Given the description of an element on the screen output the (x, y) to click on. 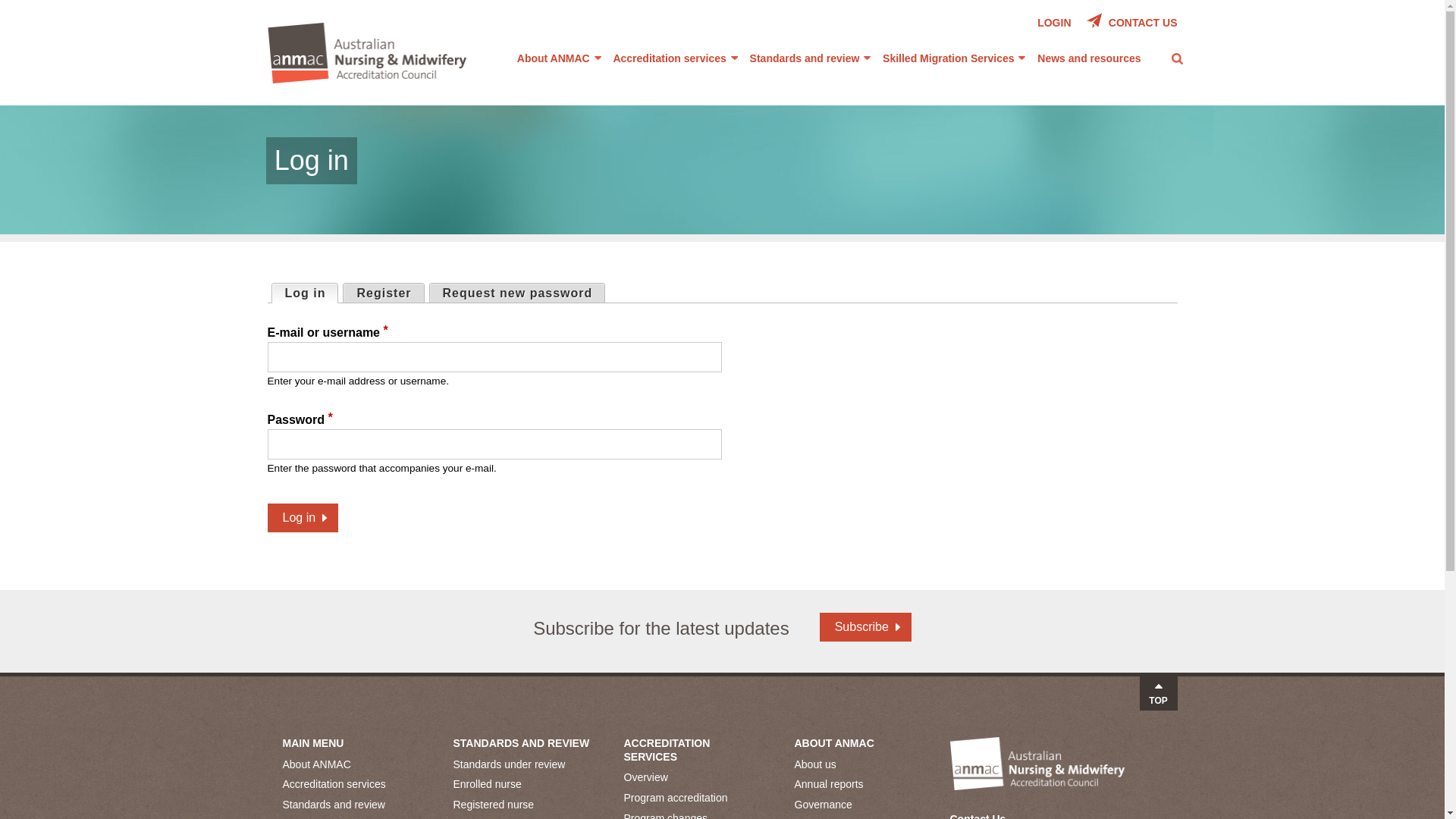
Registered nurse Element type: text (523, 804)
About ANMAC Element type: text (559, 58)
Jump to content Element type: text (722, 1)
Overview Element type: text (693, 777)
STANDARDS AND REVIEW Element type: text (521, 743)
Home Element type: hover (366, 55)
ACCREDITATION SERVICES Element type: text (666, 749)
Standards and review Element type: text (810, 58)
About ANMAC Element type: text (352, 764)
Log in Element type: text (302, 517)
TOP Element type: text (1157, 693)
Request new password Element type: text (517, 292)
Governance Element type: text (864, 804)
LOGIN Element type: text (1053, 22)
News and resources Element type: text (1088, 58)
Log in
(active tab) Element type: text (304, 292)
Accreditation services Element type: text (674, 58)
Accreditation services Element type: text (352, 784)
Program accreditation Element type: text (693, 797)
Enrolled nurse Element type: text (523, 784)
CONTACT US Element type: text (1131, 20)
Register Element type: text (383, 292)
Standards under review Element type: text (523, 764)
Toggle search Element type: text (1177, 58)
Skilled Migration Services Element type: text (953, 58)
Standards and review Element type: text (352, 804)
Search Element type: text (895, 69)
About us Element type: text (864, 764)
Subscribe Element type: text (865, 626)
ABOUT ANMAC Element type: text (834, 743)
Annual reports Element type: text (864, 784)
